Given the description of an element on the screen output the (x, y) to click on. 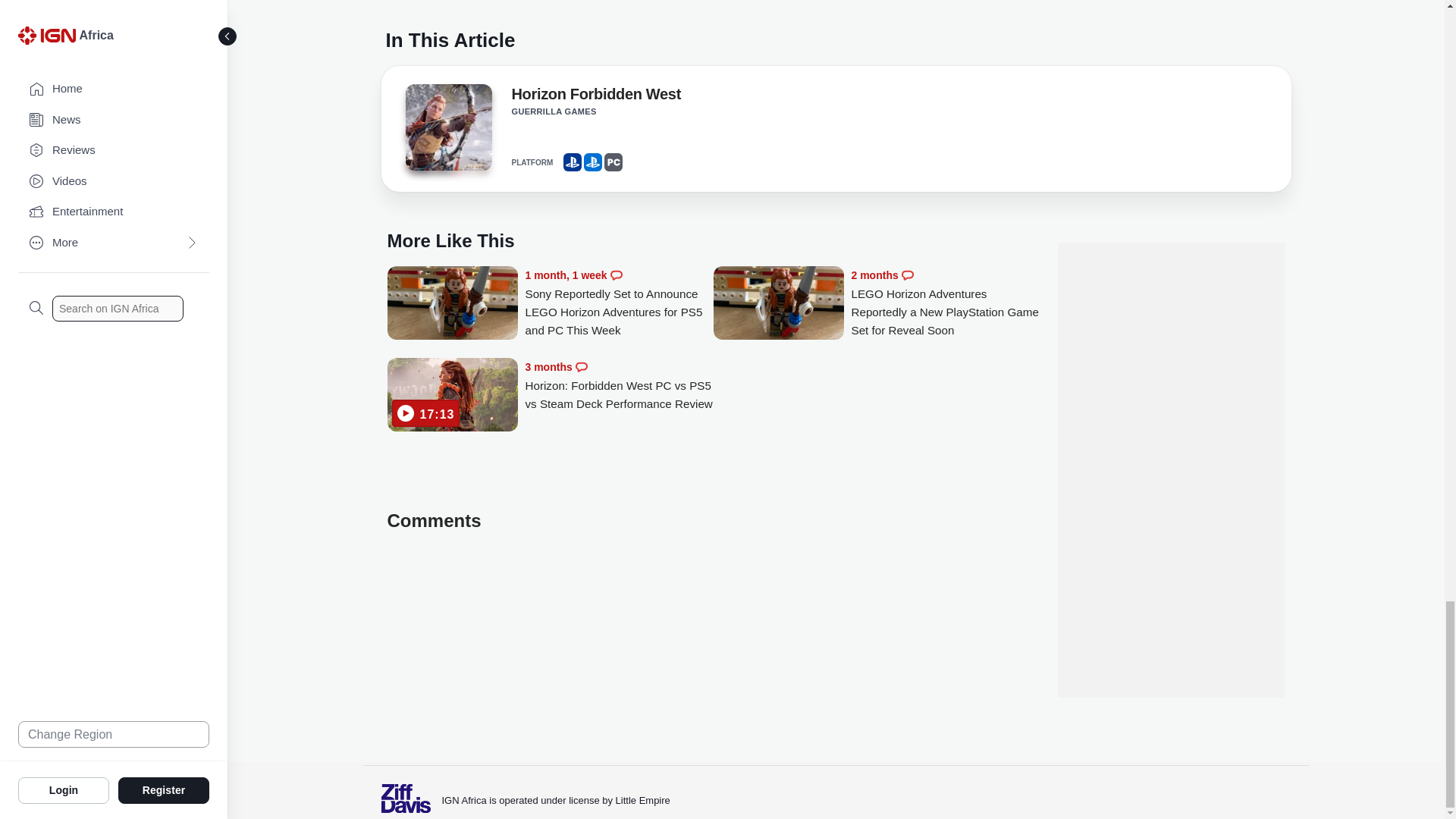
Horizon Forbidden West (448, 127)
PS4 (571, 162)
Horizon Forbidden West (595, 96)
Horizon Forbidden West (448, 131)
Comments (616, 275)
PS5 (592, 162)
PC (613, 162)
Horizon Forbidden West (595, 96)
Comments (581, 367)
